Given the description of an element on the screen output the (x, y) to click on. 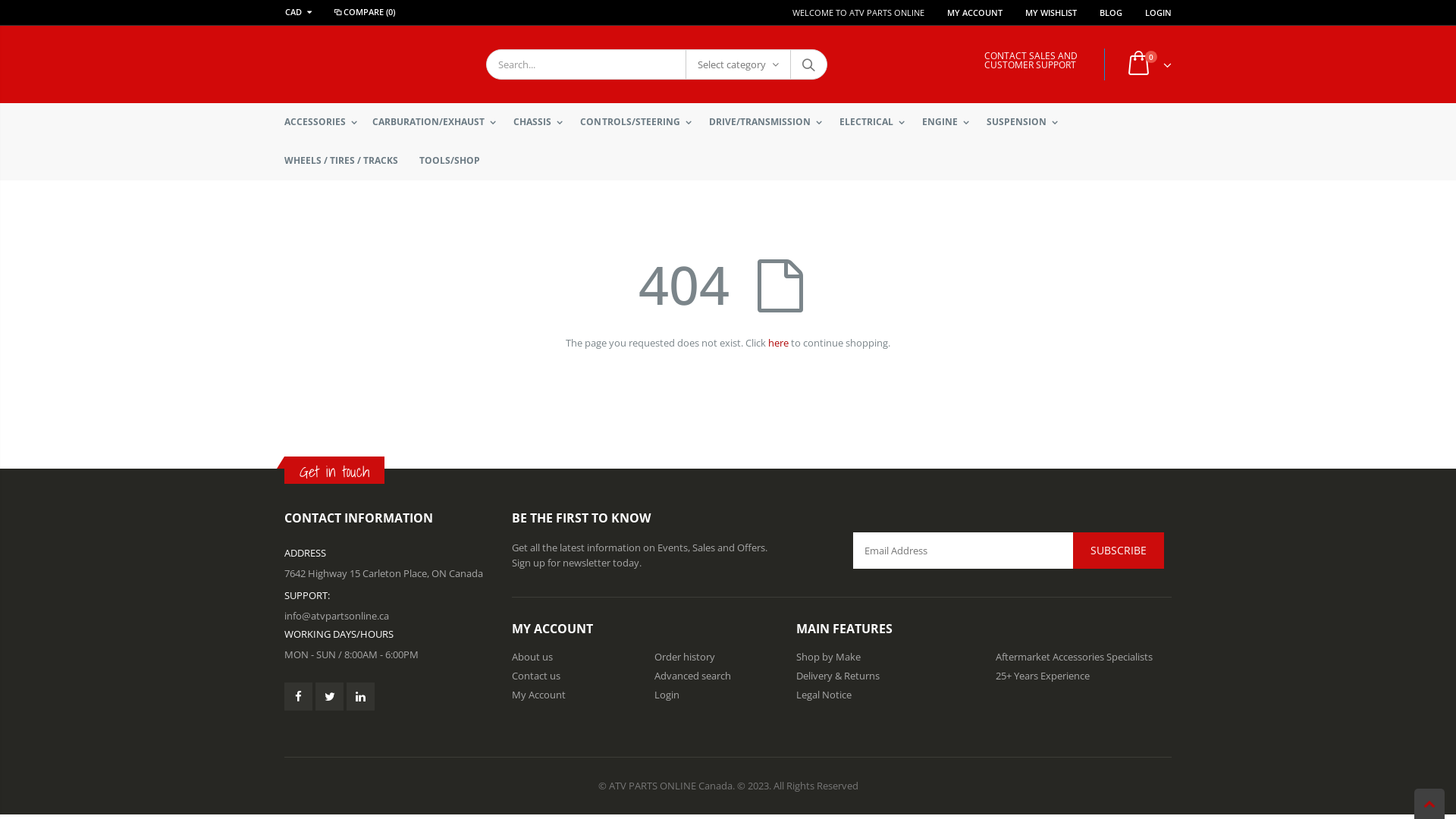
Legal Notice Element type: text (823, 694)
WHEELS / TIRES / TRACKS Element type: text (346, 160)
COMPARE (0) Element type: text (363, 11)
Delivery & Returns Element type: text (837, 675)
CONTACT SALES AND
CUSTOMER SUPPORT Element type: text (1030, 60)
ACCESSORIES Element type: text (324, 122)
Advanced search Element type: text (691, 675)
DRIVE/TRANSMISSION Element type: text (769, 122)
Facebook Element type: hover (298, 696)
Search Element type: text (807, 64)
TOOLS/SHOP Element type: text (455, 160)
About us Element type: text (531, 656)
CARBURATION/EXHAUST Element type: text (437, 122)
MY WISHLIST Element type: text (1050, 12)
25+ Years Experience Element type: text (1041, 675)
BLOG Element type: text (1110, 12)
SUSPENSION Element type: text (1025, 122)
Aftermarket Accessories Specialists Element type: text (1072, 656)
here Element type: text (778, 341)
ELECTRICAL Element type: text (875, 122)
Shop by Make Element type: text (828, 656)
ENGINE Element type: text (949, 122)
Login Element type: text (665, 694)
CHASSIS Element type: text (541, 122)
MY ACCOUNT Element type: text (974, 12)
SUBSCRIBE Element type: text (1118, 550)
CAD Element type: text (300, 11)
LOGIN Element type: text (1158, 12)
0 Element type: text (1145, 64)
Contact us Element type: text (535, 675)
Linkedin Element type: hover (360, 696)
Twitter Element type: hover (329, 696)
My Account Element type: text (538, 694)
Select category Element type: text (738, 64)
Order history Element type: text (683, 656)
CONTROLS/STEERING Element type: text (639, 122)
